Given the description of an element on the screen output the (x, y) to click on. 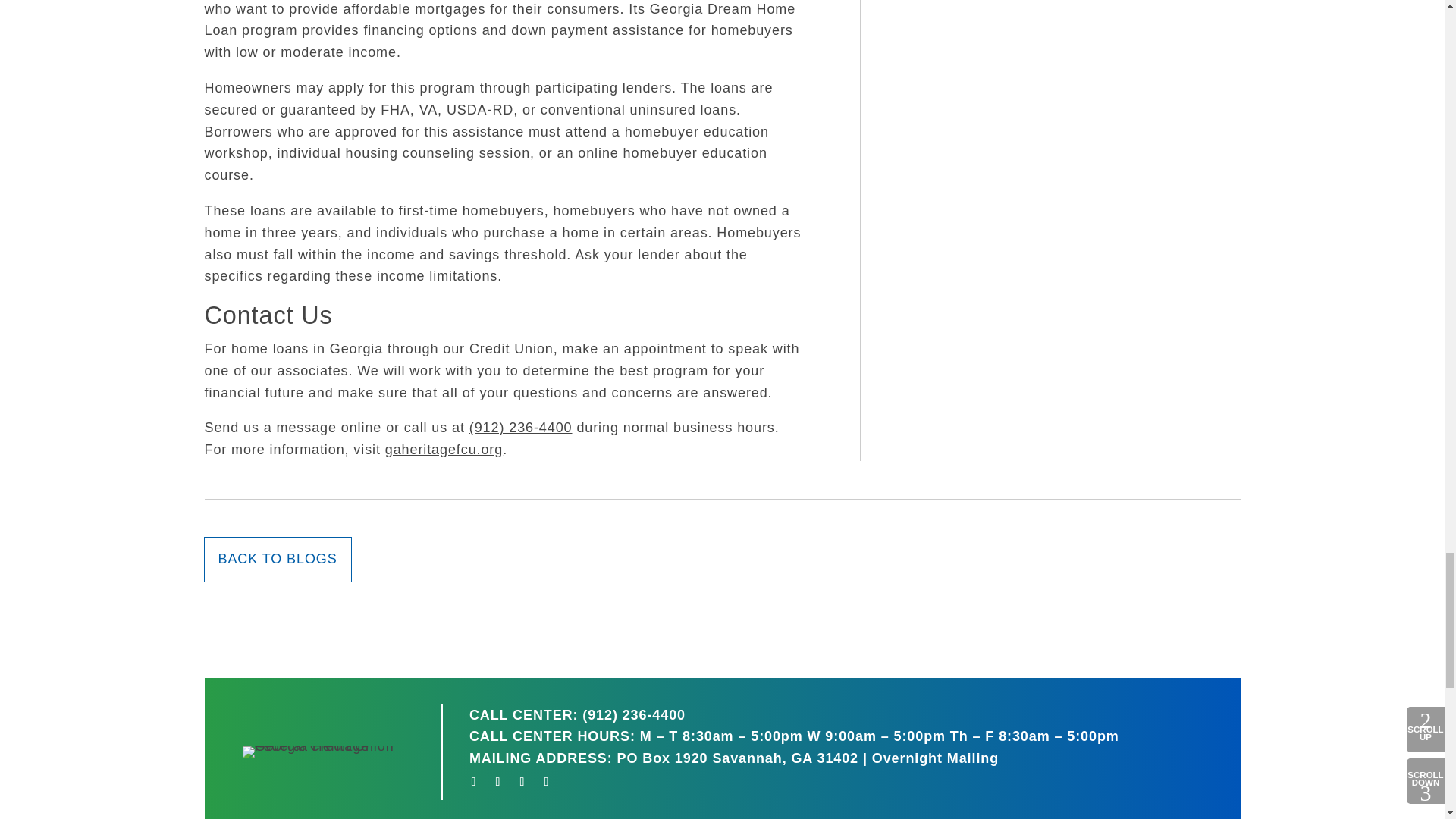
Follow on Youtube (546, 781)
Follow on Instagram (522, 781)
Follow on Facebook (473, 781)
Follow on X (498, 781)
Georgia Heritage Federal Credit Union (328, 752)
